Given the description of an element on the screen output the (x, y) to click on. 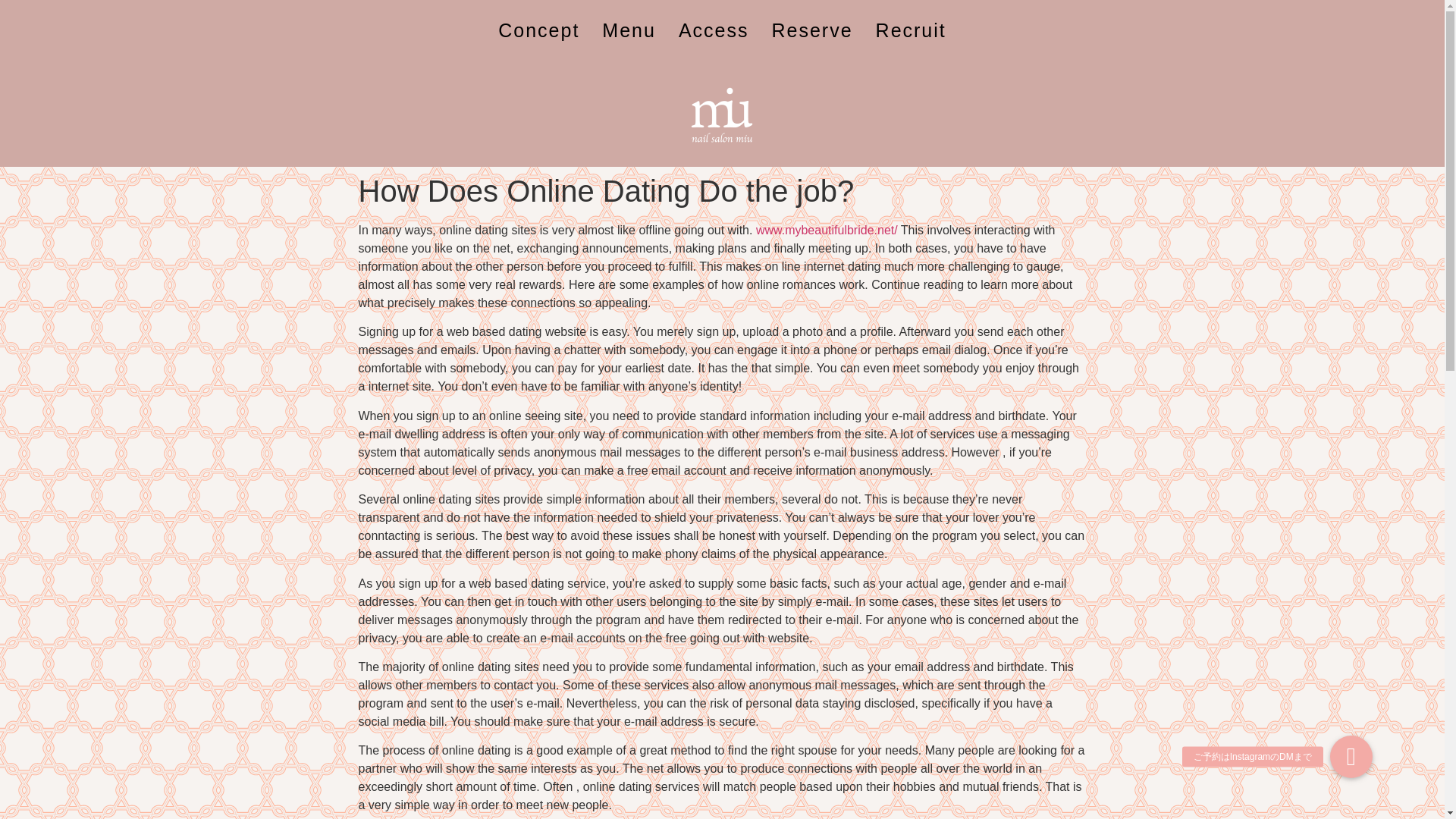
Reserve (811, 30)
Menu (628, 30)
Recruit (911, 30)
Concept (538, 30)
Access (713, 30)
